Given the description of an element on the screen output the (x, y) to click on. 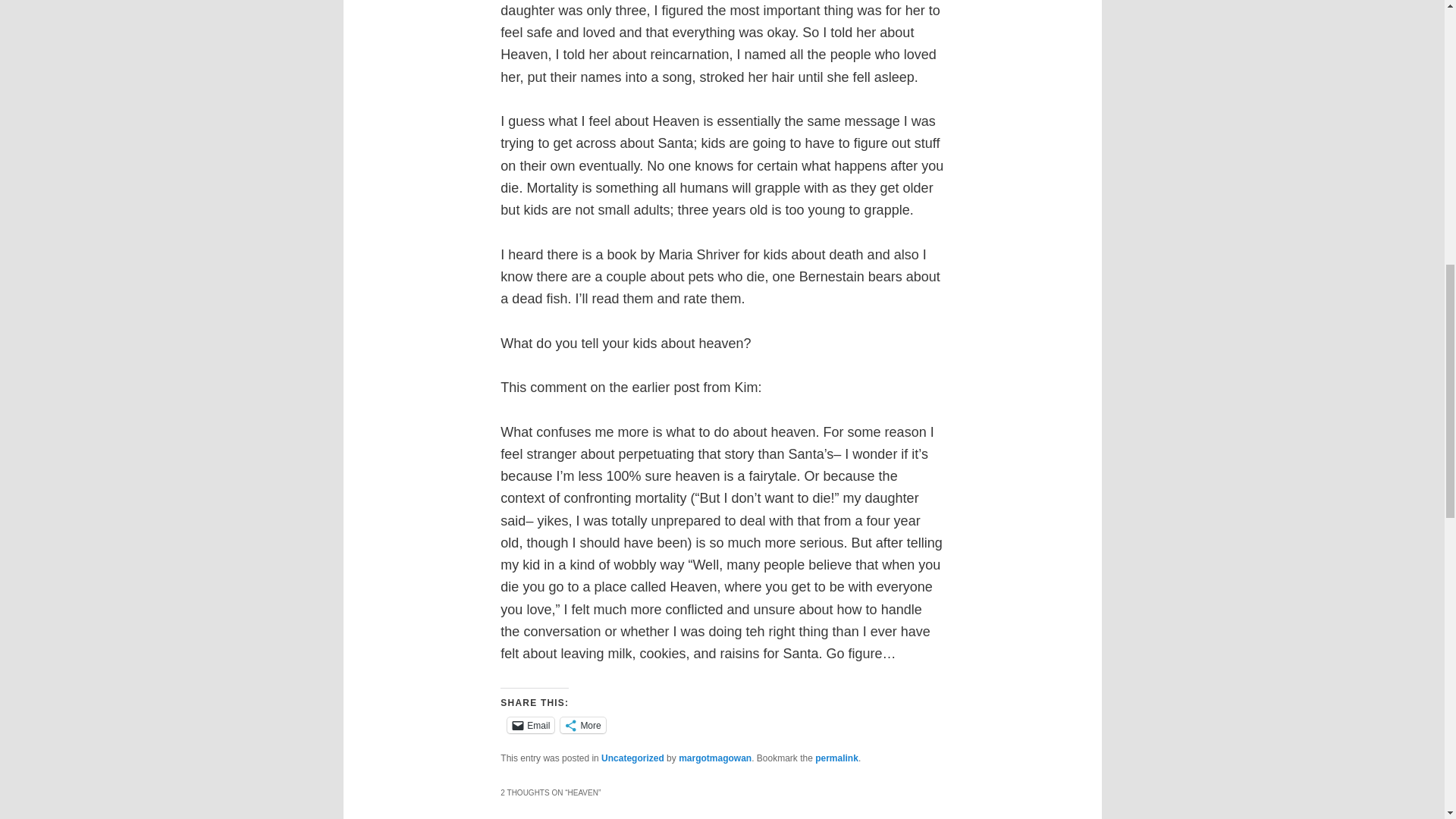
margotmagowan (714, 757)
Uncategorized (632, 757)
Click to email a link to a friend (530, 725)
Email (530, 725)
permalink (837, 757)
More (582, 725)
Permalink to Heaven (837, 757)
